Given the description of an element on the screen output the (x, y) to click on. 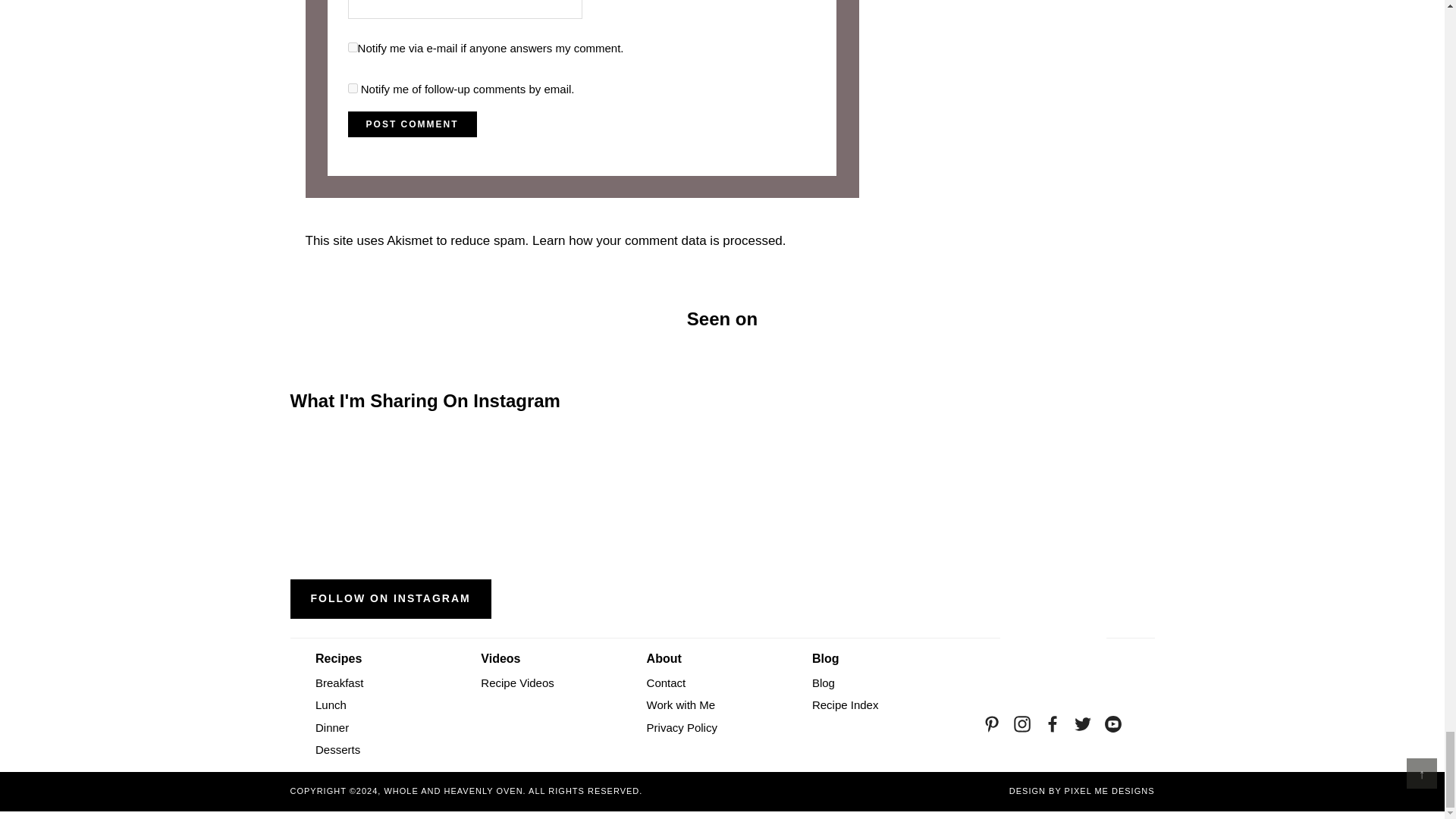
on (352, 47)
subscribe (352, 88)
Post Comment (412, 124)
